Given the description of an element on the screen output the (x, y) to click on. 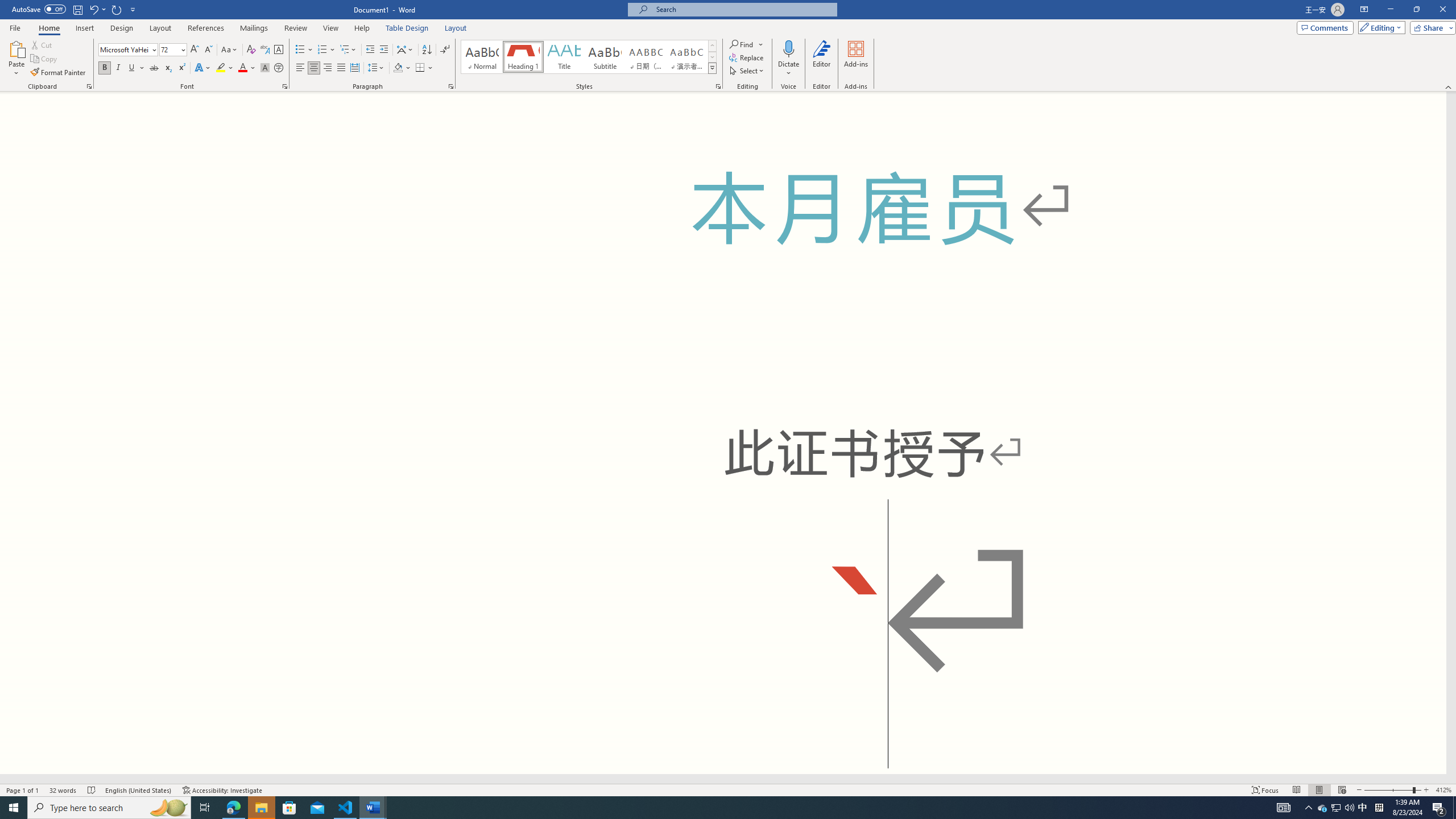
AutomationID: QuickStylesGallery (588, 56)
Heading 1 (522, 56)
